Given the description of an element on the screen output the (x, y) to click on. 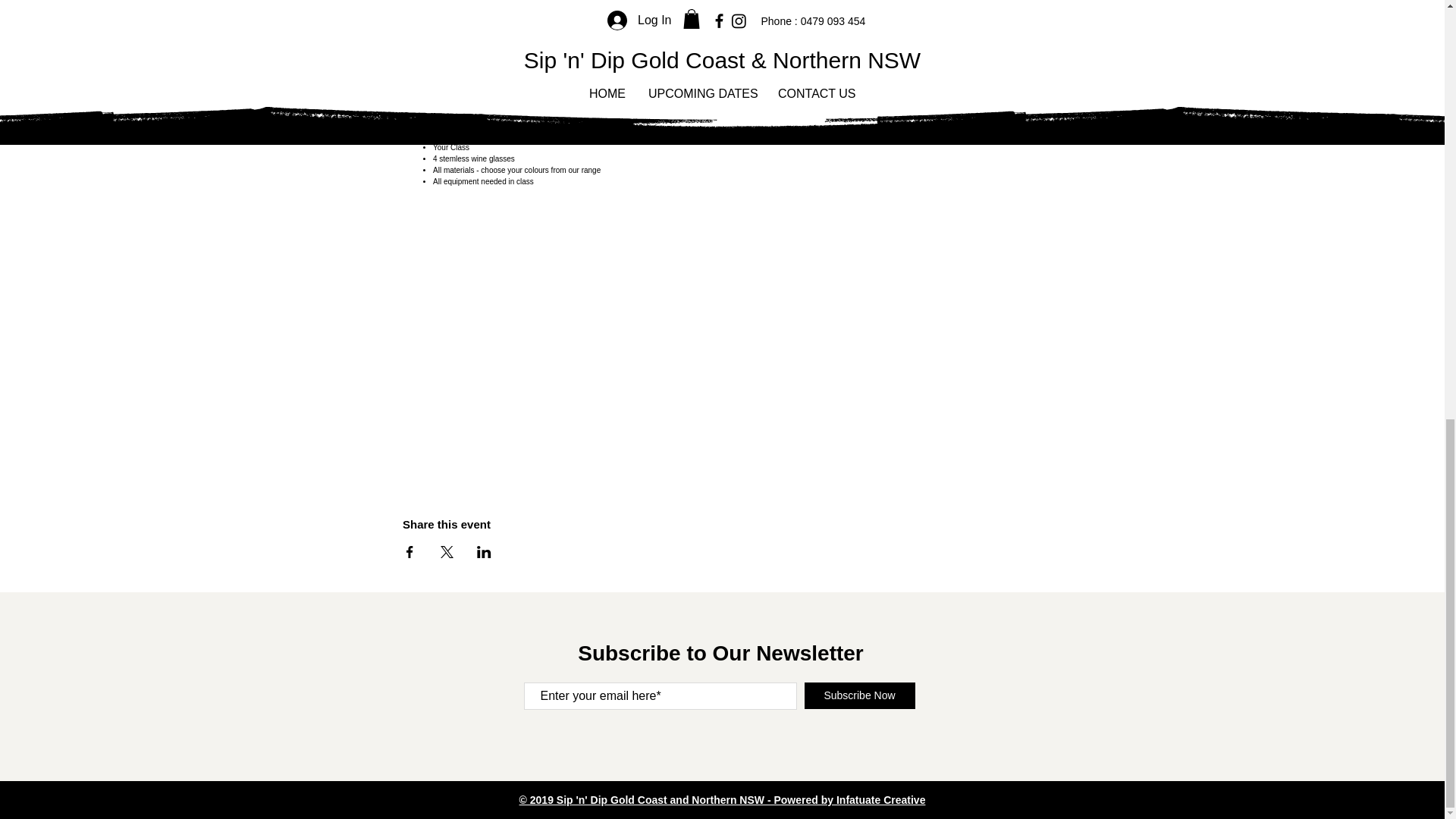
Subscribe Now (858, 695)
